Given the description of an element on the screen output the (x, y) to click on. 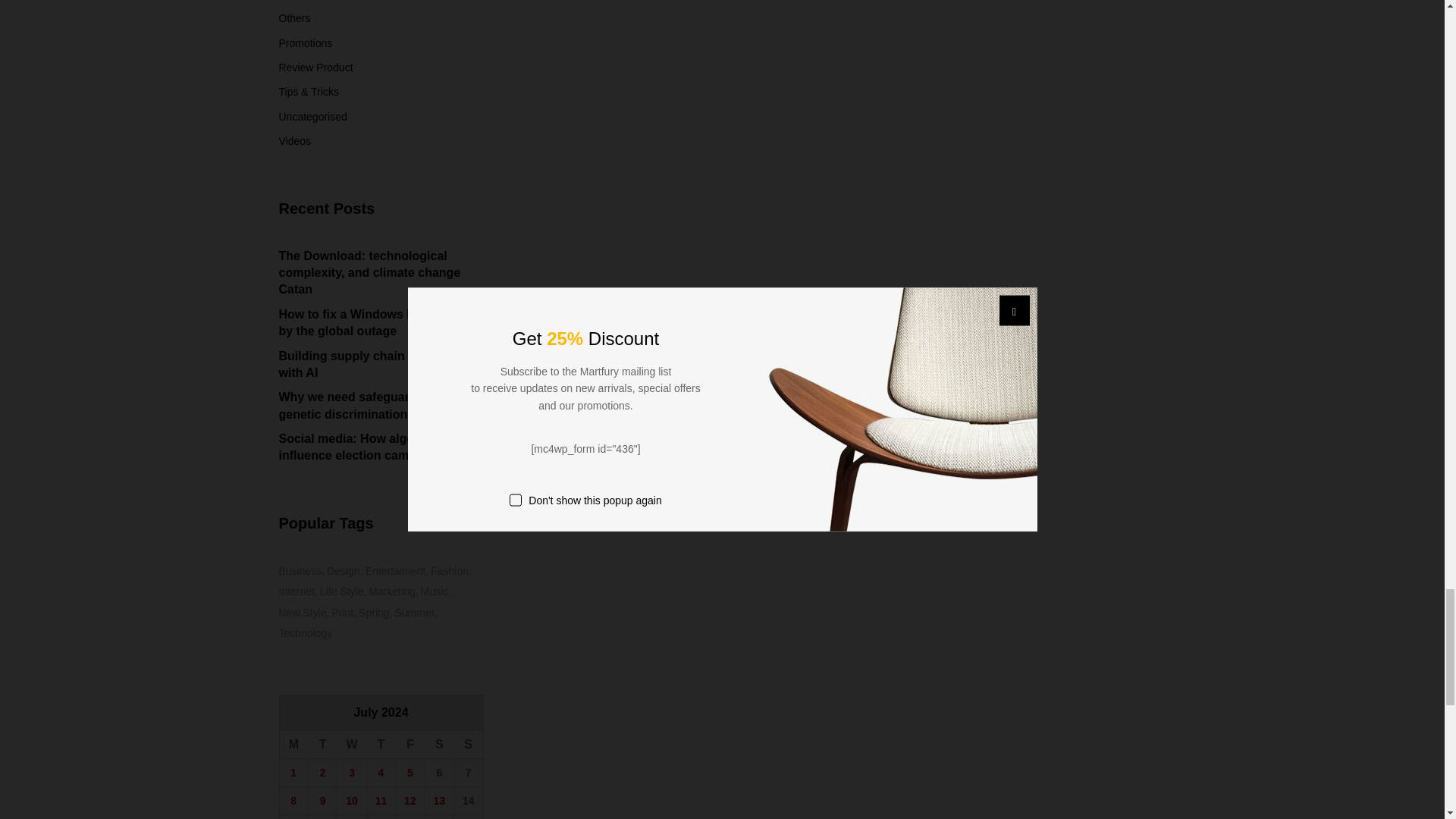
Saturday (438, 745)
Friday (410, 745)
Wednesday (351, 745)
Monday (293, 745)
Thursday (380, 745)
Sunday (468, 745)
Tuesday (321, 745)
